Given the description of an element on the screen output the (x, y) to click on. 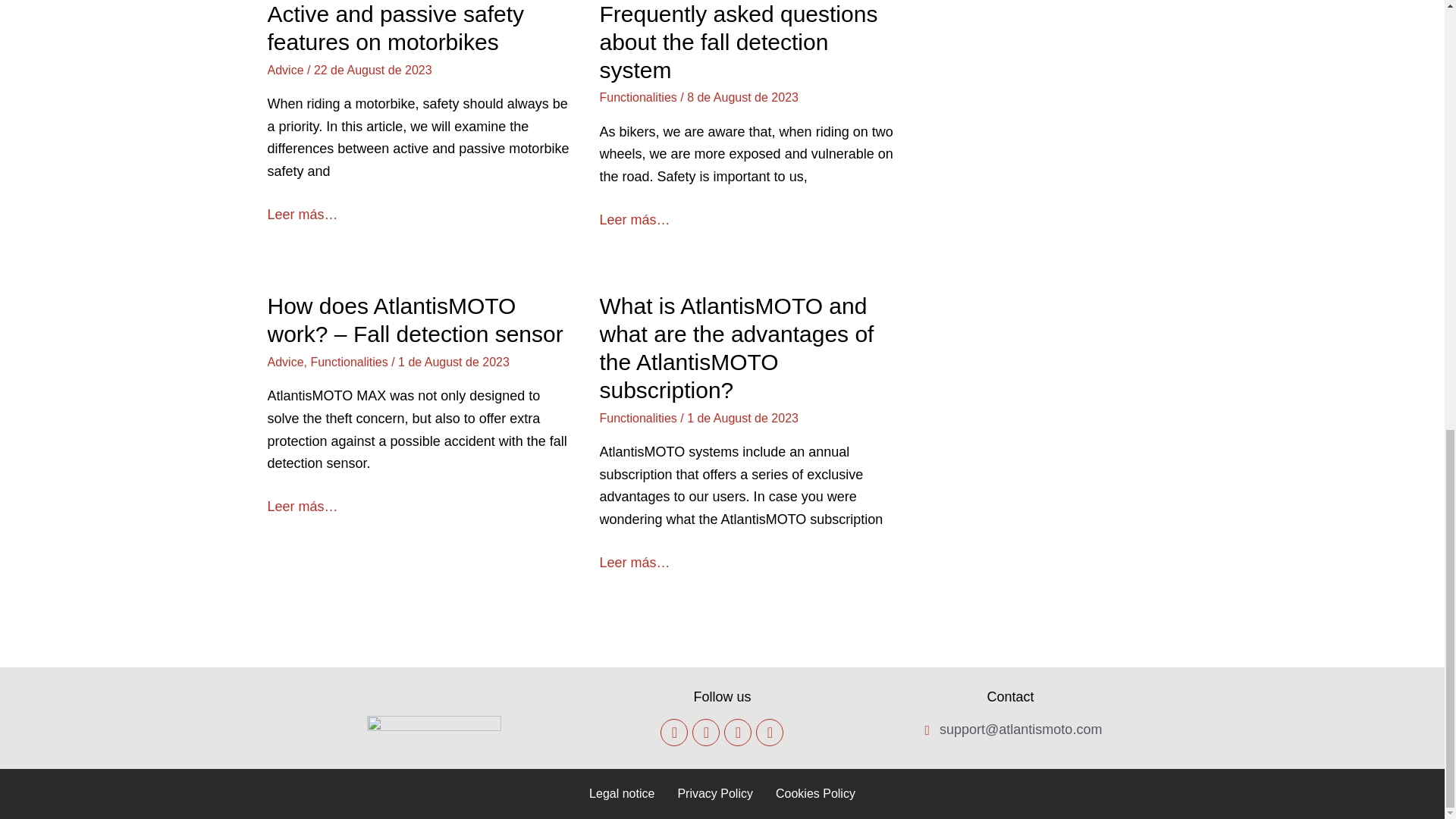
Advice (284, 69)
Active and passive safety features on motorbikes (395, 27)
Frequently asked questions about the fall detection system (737, 41)
Functionalities (348, 361)
Advice (284, 361)
Functionalities (637, 97)
